Given the description of an element on the screen output the (x, y) to click on. 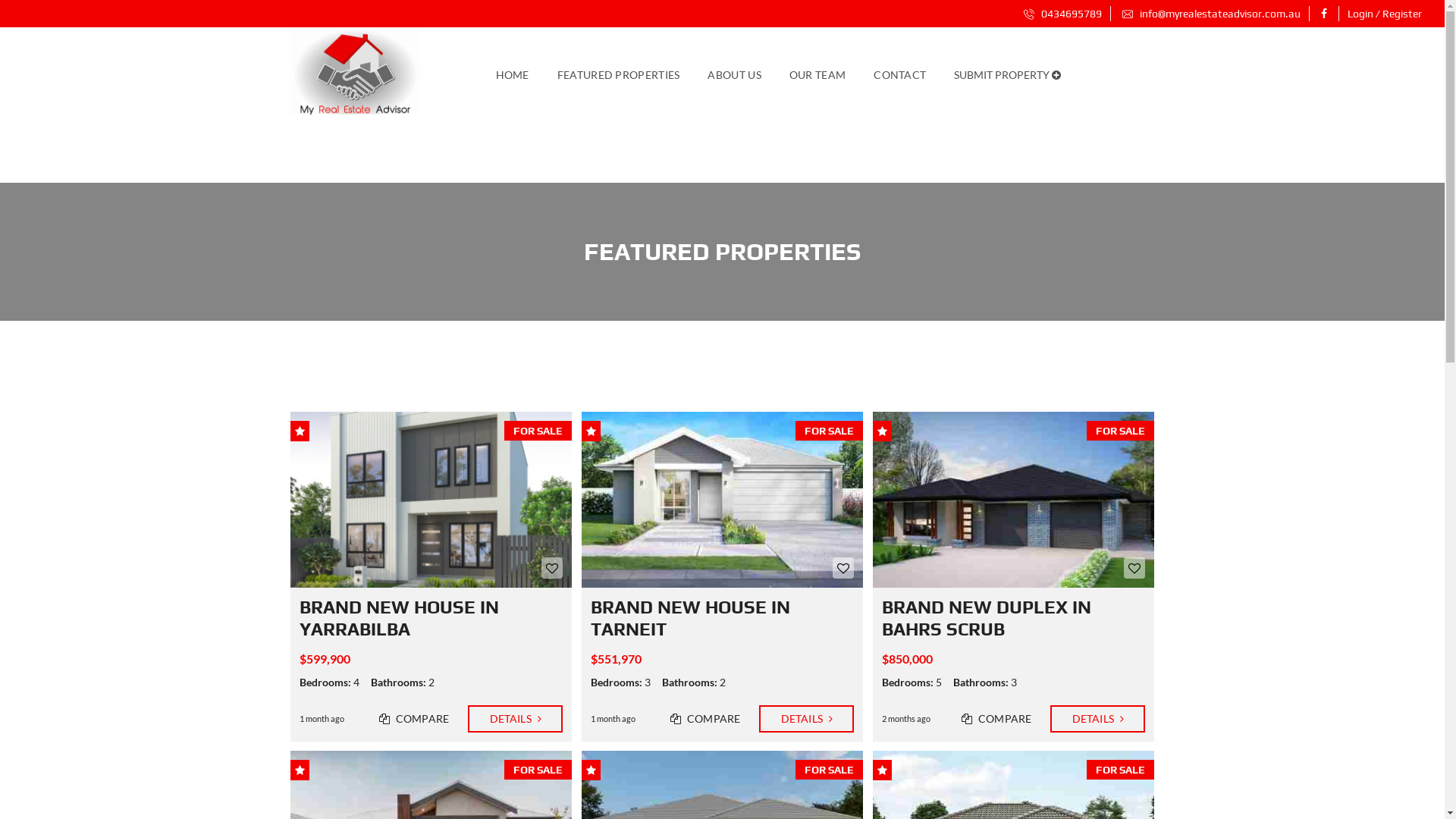
Login / Register Element type: text (1384, 13)
COMPARE Element type: text (704, 718)
FOR SALE Element type: text (722, 499)
COMPARE Element type: text (995, 718)
DETAILS Element type: text (1097, 718)
FOR SALE Element type: text (430, 499)
DETAILS Element type: text (514, 718)
0434695789 Element type: text (1062, 13)
info@myrealestateadvisor.com.au Element type: text (1211, 13)
FEATURED PROPERTIES Element type: text (618, 74)
CONTACT Element type: text (899, 74)
BRAND NEW HOUSE IN TARNEIT Element type: text (690, 617)
DETAILS Element type: text (806, 718)
COMPARE Element type: text (413, 718)
OUR TEAM Element type: text (817, 74)
FOR SALE Element type: text (1013, 499)
ABOUT US Element type: text (733, 74)
SUBMIT PROPERTY Element type: text (1006, 74)
HOME Element type: text (512, 74)
BRAND NEW HOUSE IN YARRABILBA Element type: text (398, 617)
BRAND NEW DUPLEX IN BAHRS SCRUB Element type: text (986, 617)
